Given the description of an element on the screen output the (x, y) to click on. 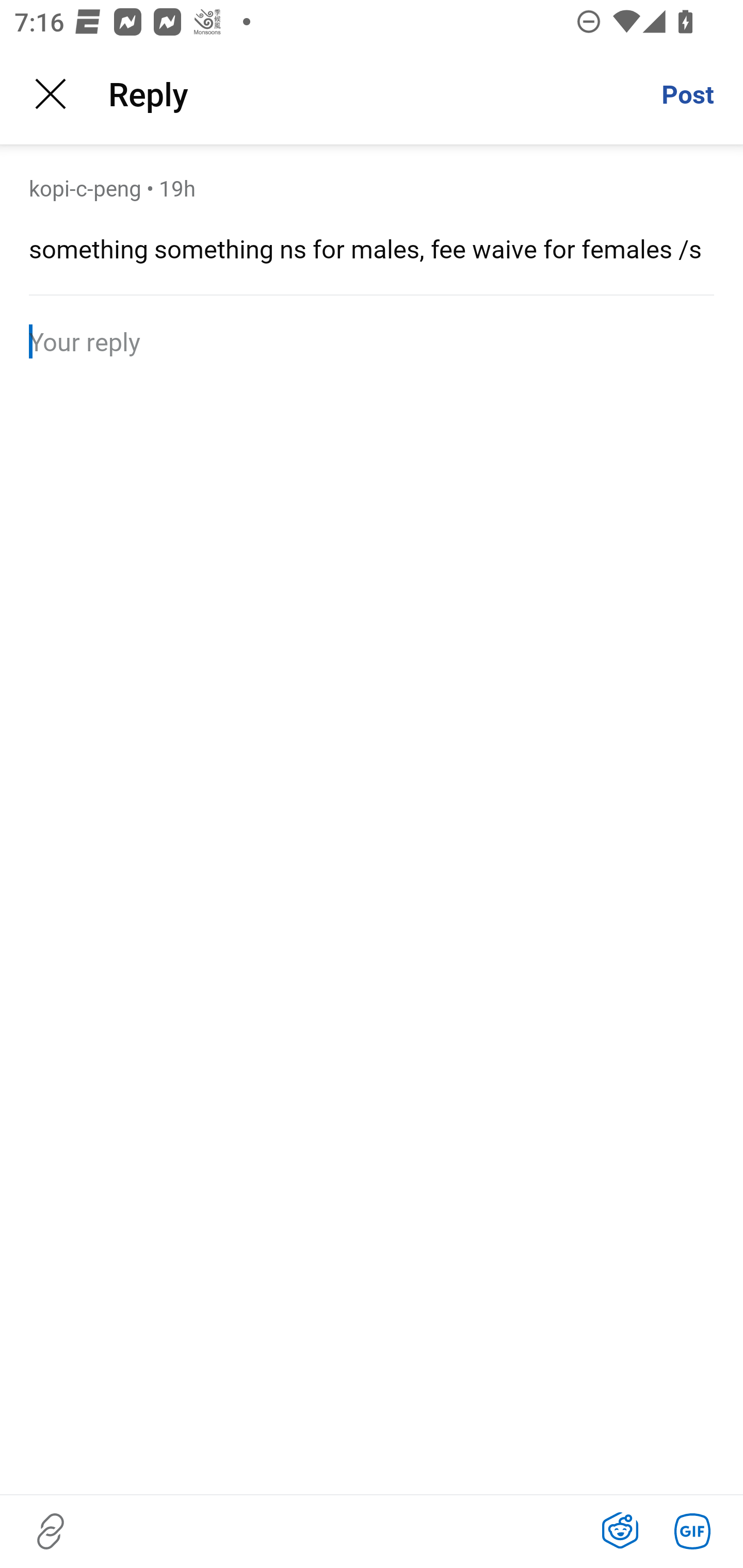
Close (50, 93)
Post (687, 94)
Your reply (371, 340)
Insert a link (50, 1530)
Show Expressions (619, 1530)
Search GIFs (692, 1530)
